Given the description of an element on the screen output the (x, y) to click on. 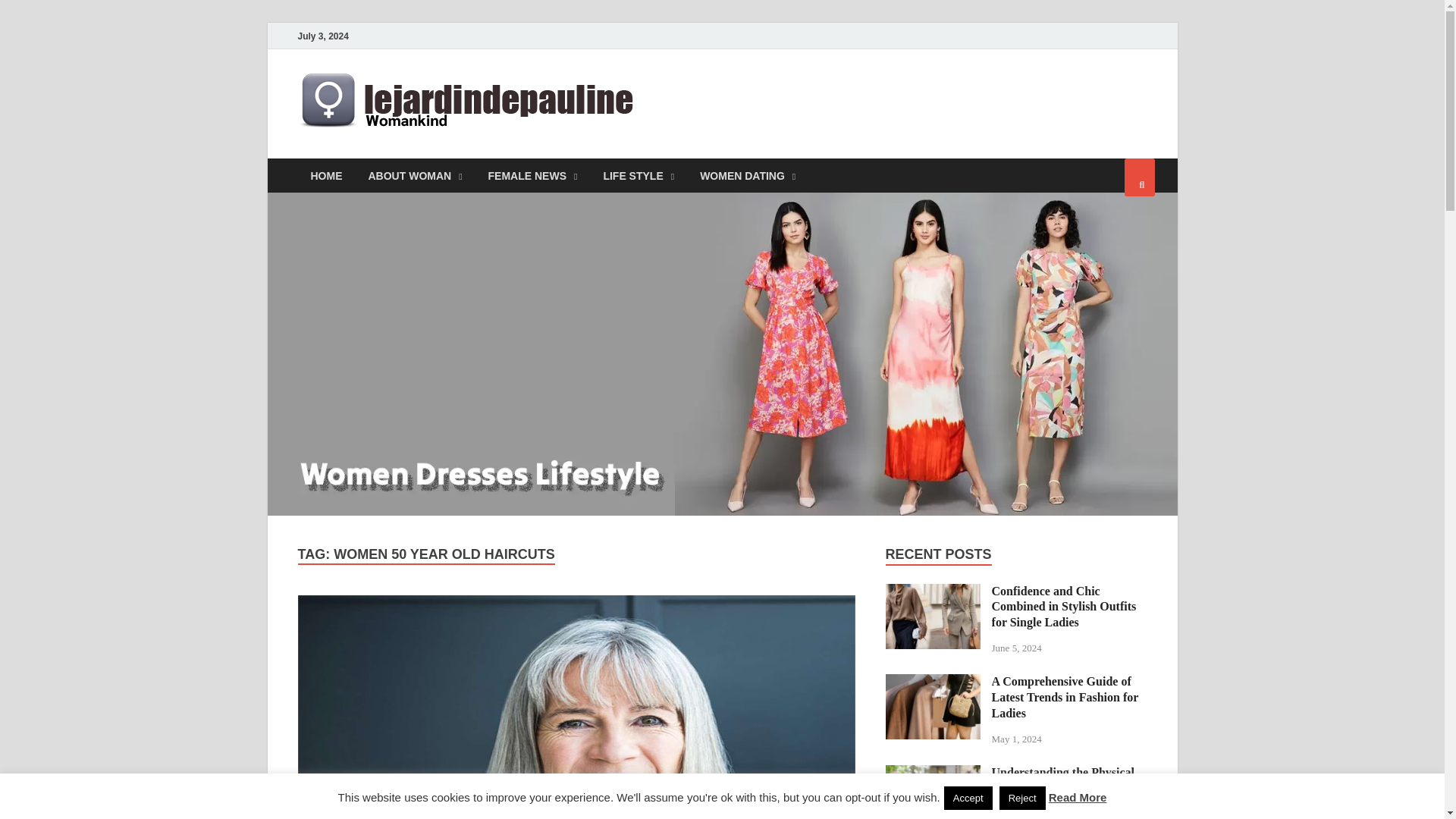
lejardindepauline.com (802, 100)
Understanding the Physical Signs of Love from a Woman (932, 773)
ABOUT WOMAN (414, 175)
WOMEN DATING (747, 175)
HOME (326, 175)
FEMALE NEWS (533, 175)
Hair Loss For Women in Their 30-60s (575, 707)
LIFE STYLE (638, 175)
A Comprehensive Guide of Latest Trends in Fashion for Ladies (932, 682)
